Given the description of an element on the screen output the (x, y) to click on. 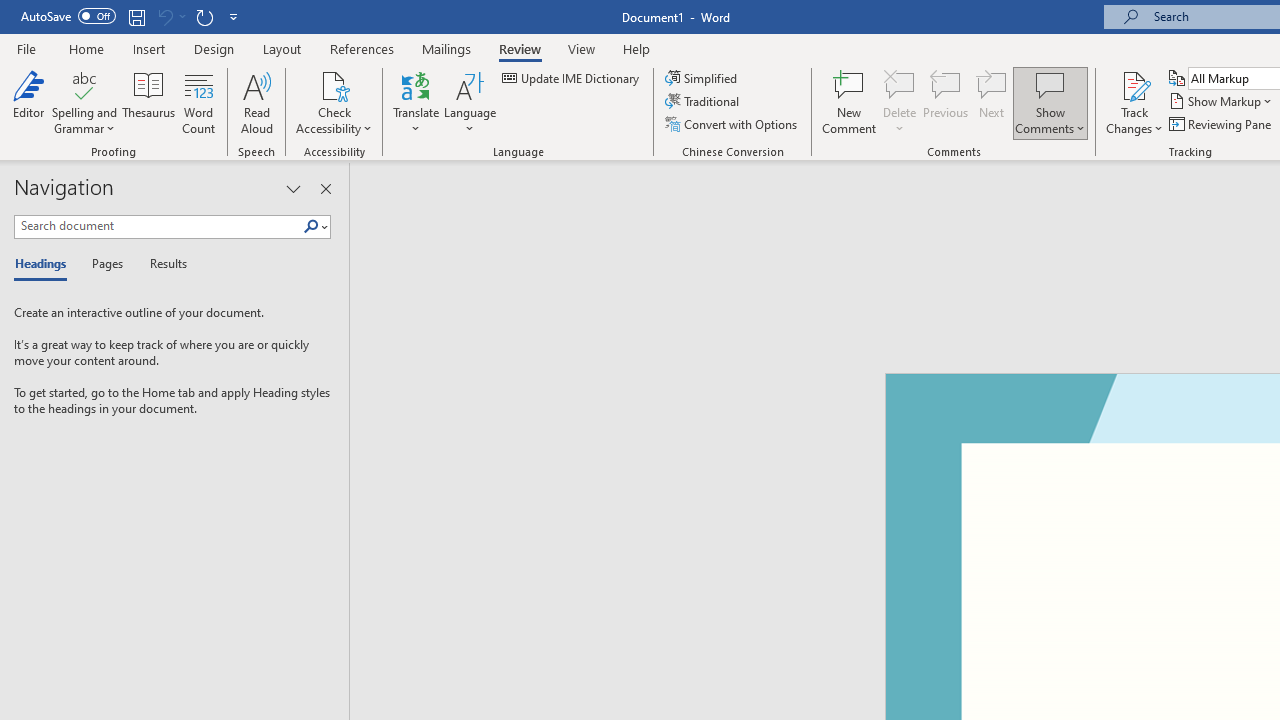
Can't Undo (164, 15)
Show Comments (1050, 102)
Simplified (702, 78)
Spelling and Grammar (84, 102)
Language (470, 102)
Review (520, 48)
Search (311, 227)
Search (315, 227)
Customize Quick Access Toolbar (234, 15)
Convert with Options... (732, 124)
Quick Access Toolbar (131, 16)
References (362, 48)
Editor (28, 102)
Headings (45, 264)
